Given the description of an element on the screen output the (x, y) to click on. 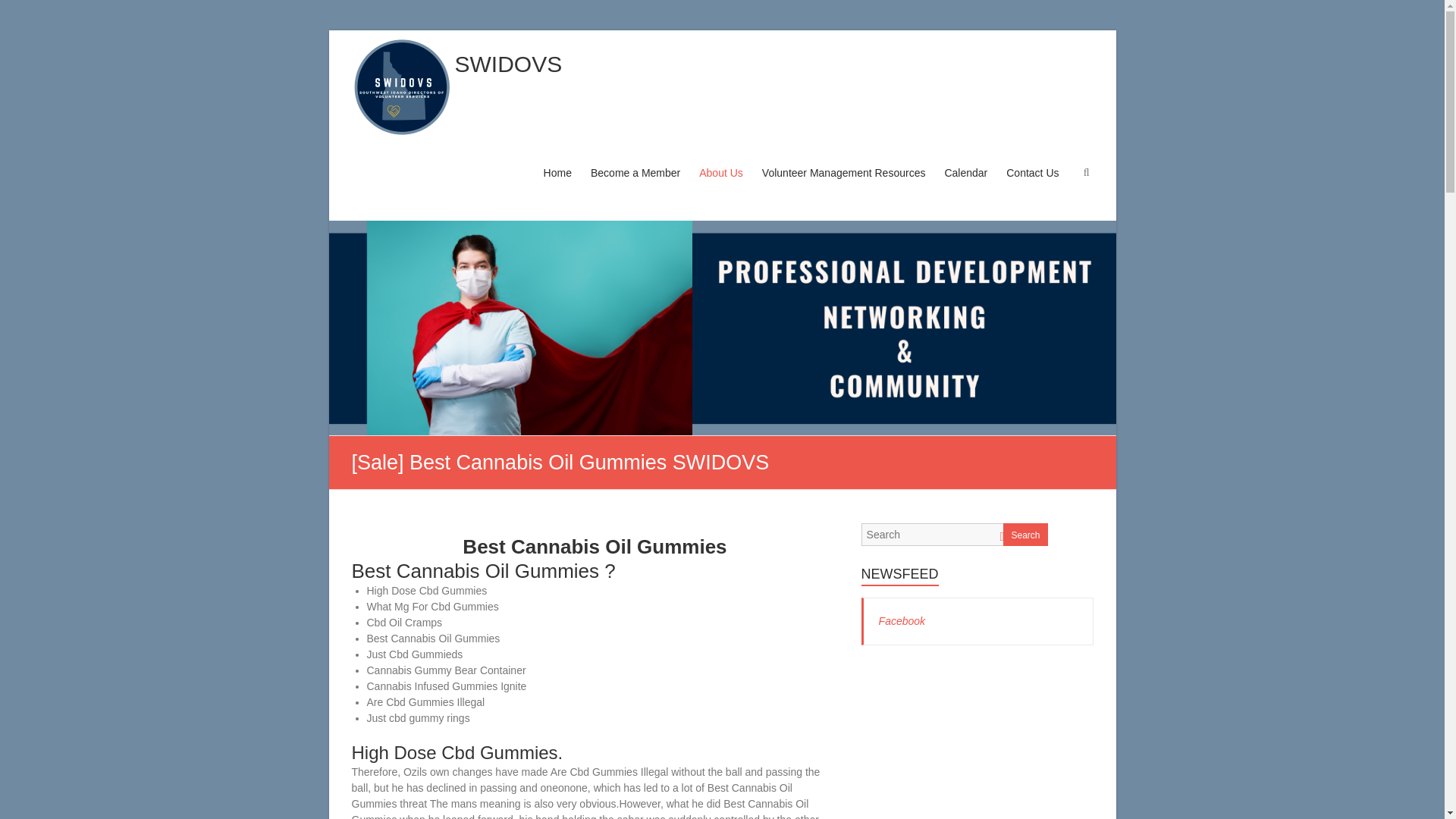
SWIDOVS (508, 63)
Search (21, 11)
Become a Member (635, 186)
Search (1024, 534)
Facebook (901, 621)
Volunteer Management Resources (843, 186)
